Given the description of an element on the screen output the (x, y) to click on. 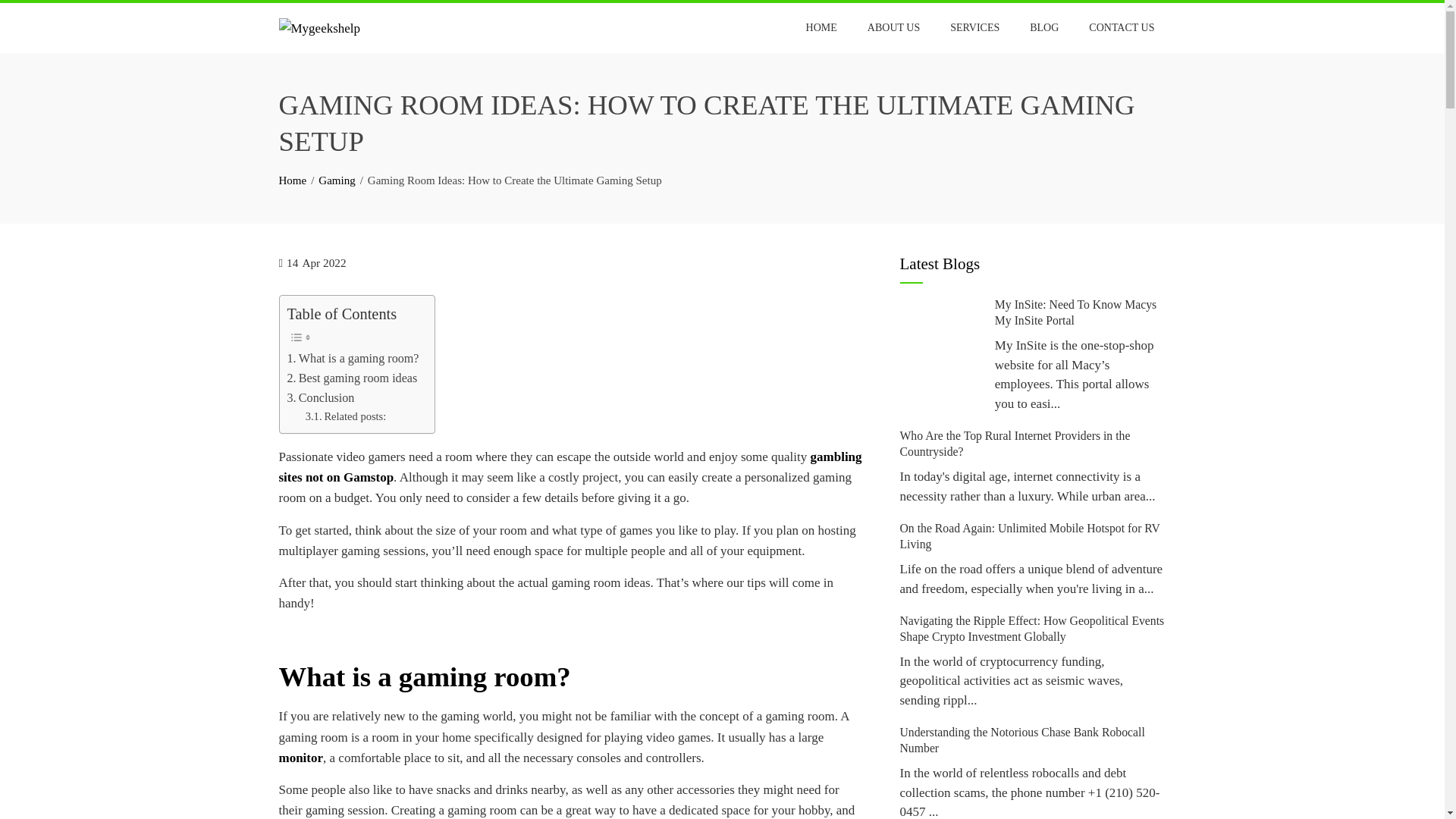
SERVICES (974, 27)
monitor (301, 757)
Who Are the Top Rural Internet Providers in the Countryside? (1014, 443)
Best gaming room ideas (351, 378)
On the Road Again: Unlimited Mobile Hotspot for RV Living (1028, 535)
Conclusion (319, 397)
Related posts: (346, 416)
What is a gaming room? (352, 358)
BLOG (1043, 27)
gambling sites not on Gamstop (570, 466)
Best gaming room ideas (351, 378)
My InSite: Need To Know Macys My InSite Portal (1075, 311)
Search (32, 15)
ABOUT US (893, 27)
Conclusion (319, 397)
